Given the description of an element on the screen output the (x, y) to click on. 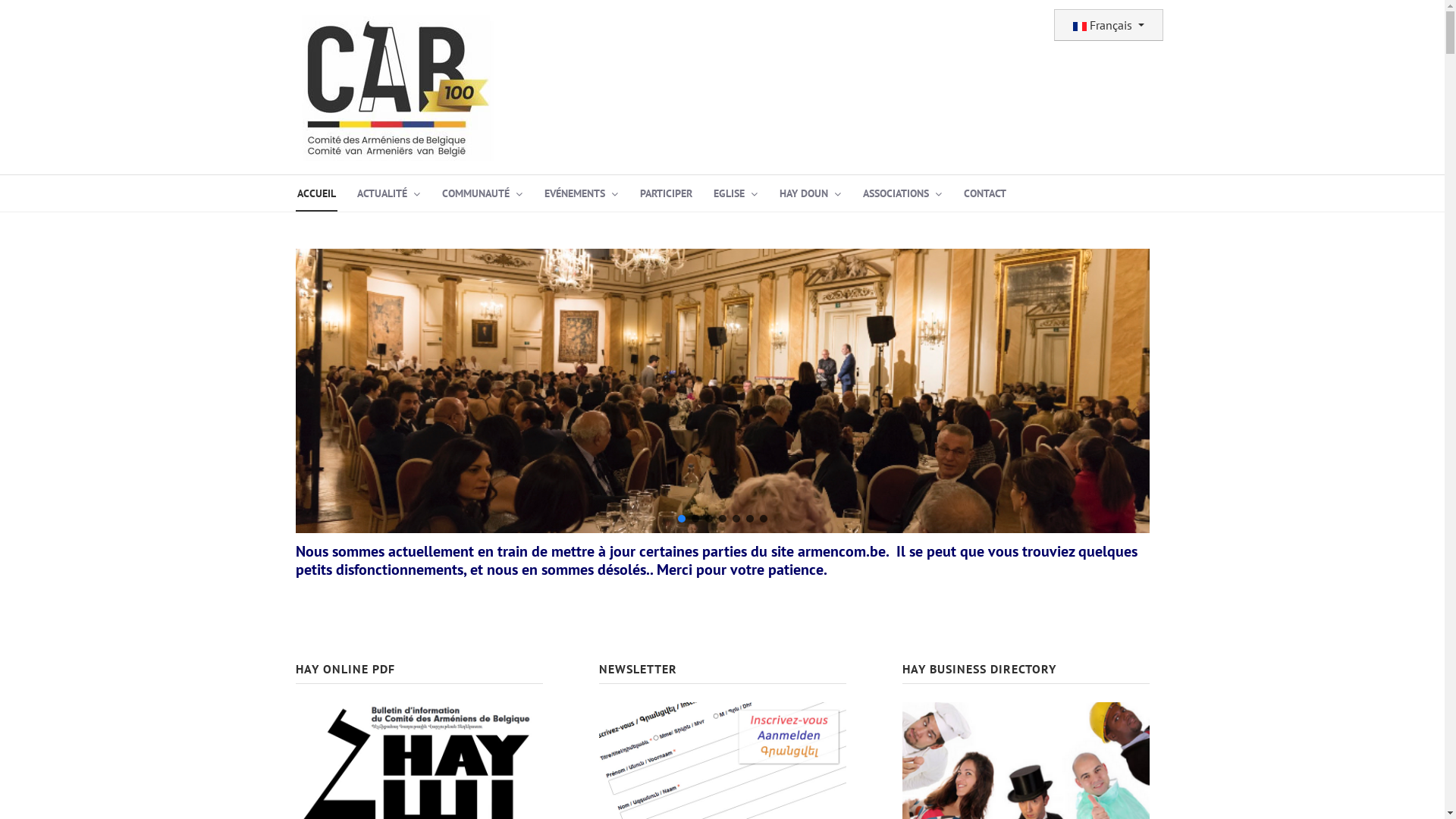
ASSOCIATIONS Element type: text (902, 193)
ACCUEIL Element type: text (316, 193)
HAY DOUN Element type: text (810, 193)
PARTICIPER Element type: text (665, 193)
CONTACT Element type: text (984, 193)
EGLISE Element type: text (735, 193)
